Given the description of an element on the screen output the (x, y) to click on. 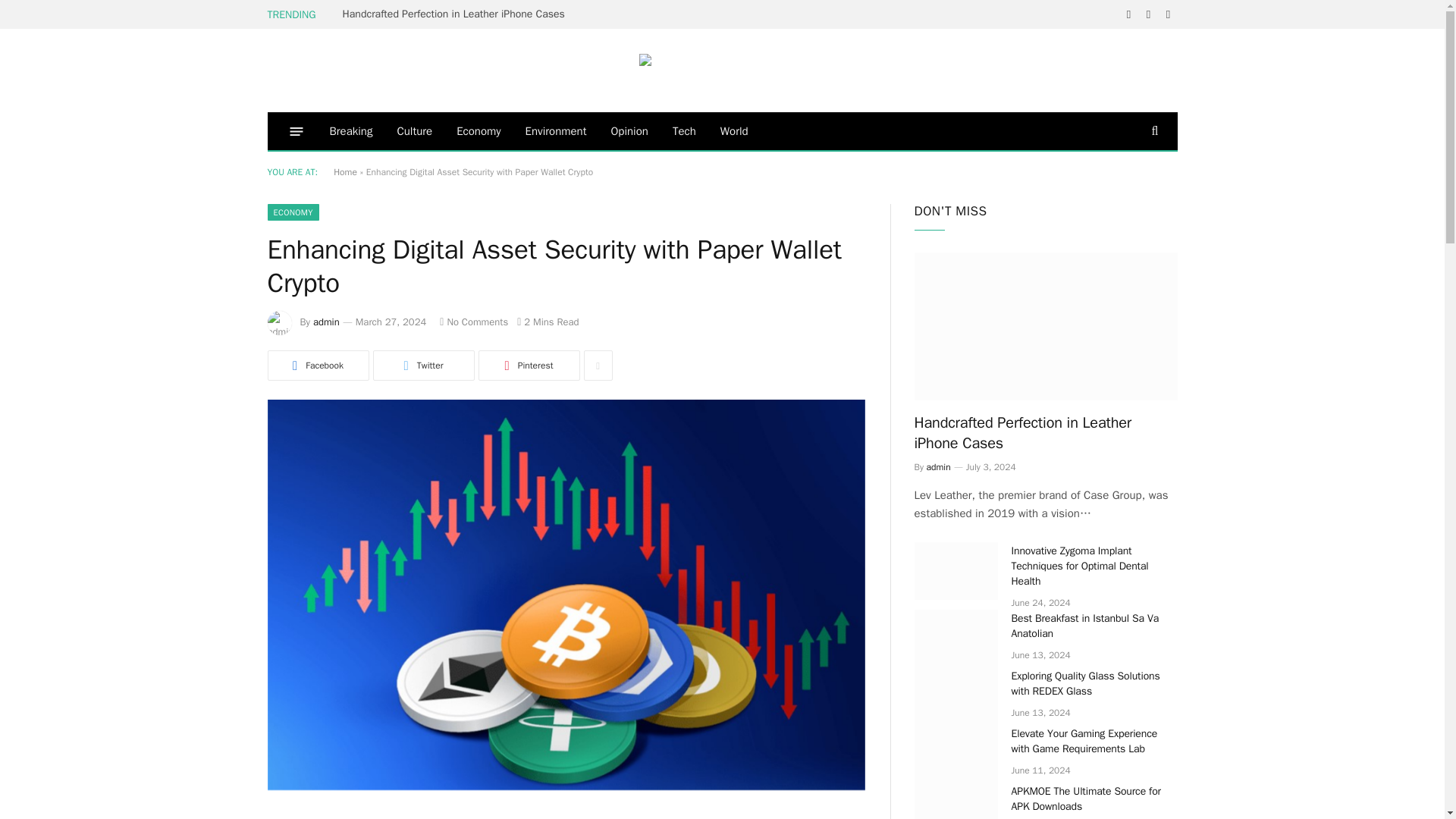
World (733, 130)
admin (326, 321)
No Comments (473, 321)
ECONOMY (292, 211)
Share on Pinterest (528, 365)
Culture (414, 130)
Opinion (628, 130)
Share on Facebook (317, 365)
Breaking (350, 130)
Tech (684, 130)
Environment (555, 130)
Economy (478, 130)
Reality News Live (722, 70)
Posts by admin (326, 321)
Home (344, 172)
